Given the description of an element on the screen output the (x, y) to click on. 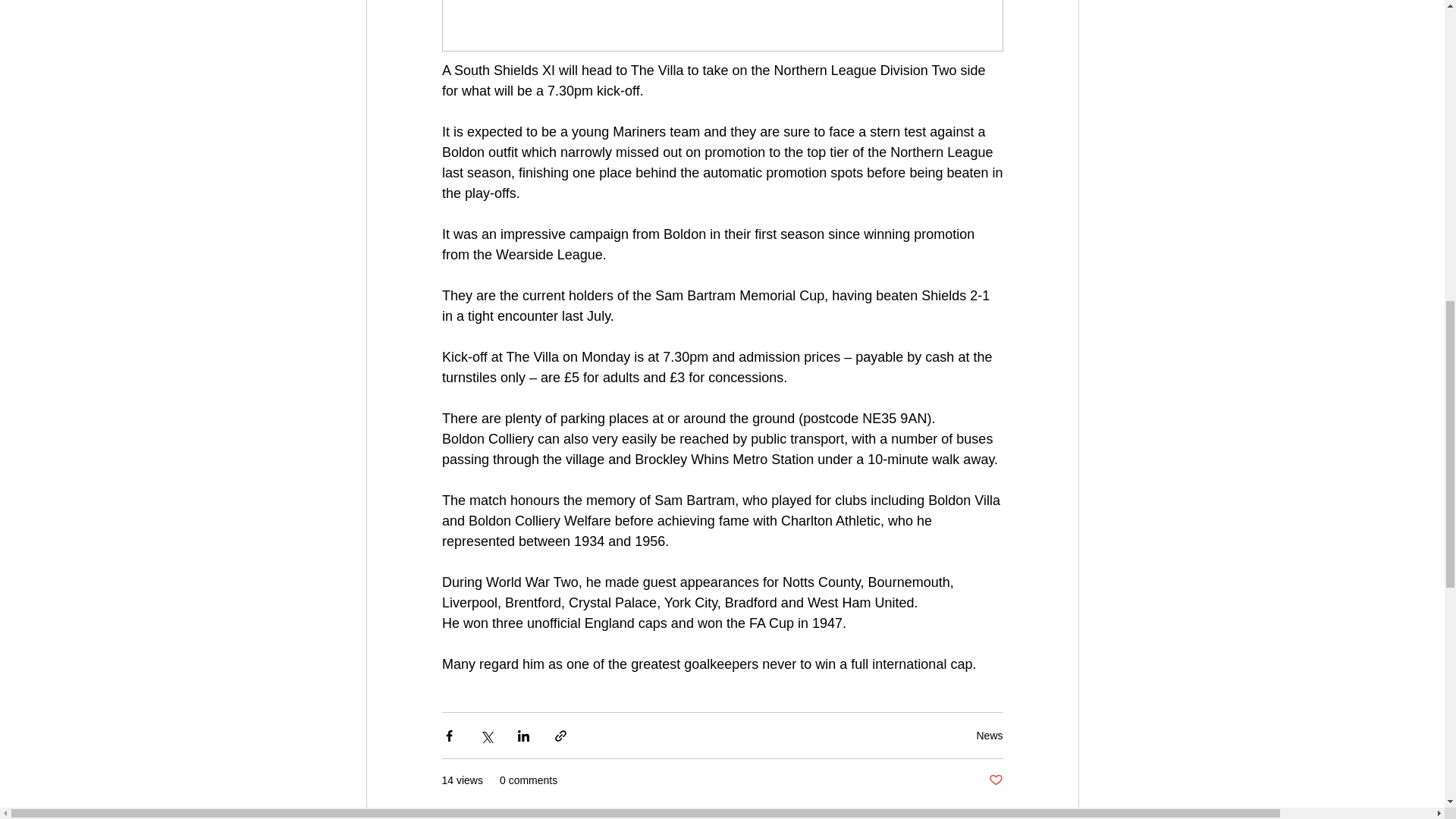
News (989, 735)
Post not marked as liked (995, 780)
